Given the description of an element on the screen output the (x, y) to click on. 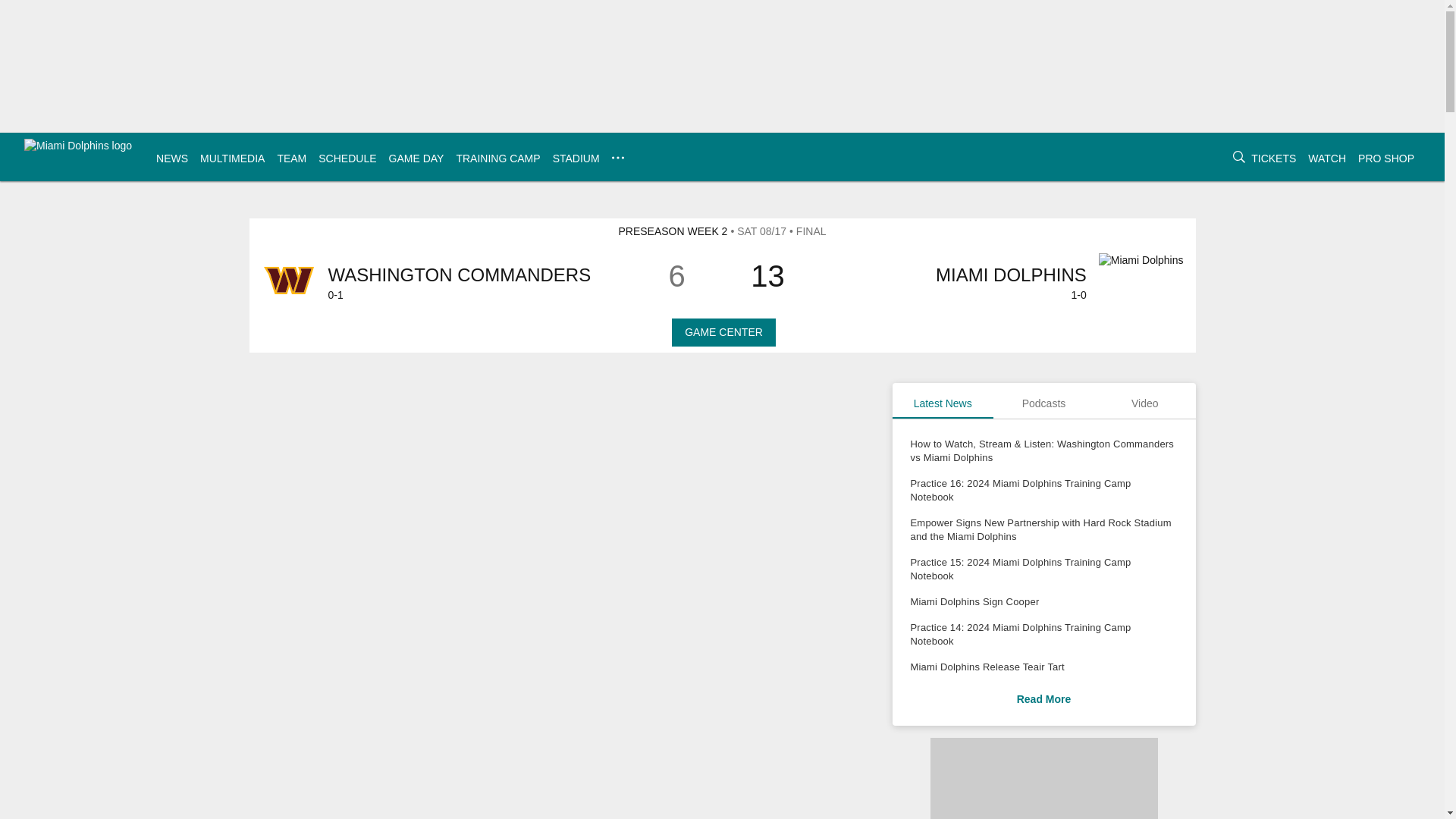
TEAM (290, 158)
SCHEDULE (346, 158)
NEWS (171, 158)
TICKETS (1272, 158)
NEWS (171, 158)
Podcasts (1043, 400)
WATCH (1326, 158)
Video (1144, 400)
Practice 16: 2024 Miami Dolphins Training Camp Notebook (1043, 490)
Practice 14: 2024 Miami Dolphins Training Camp Notebook (1043, 634)
